Given the description of an element on the screen output the (x, y) to click on. 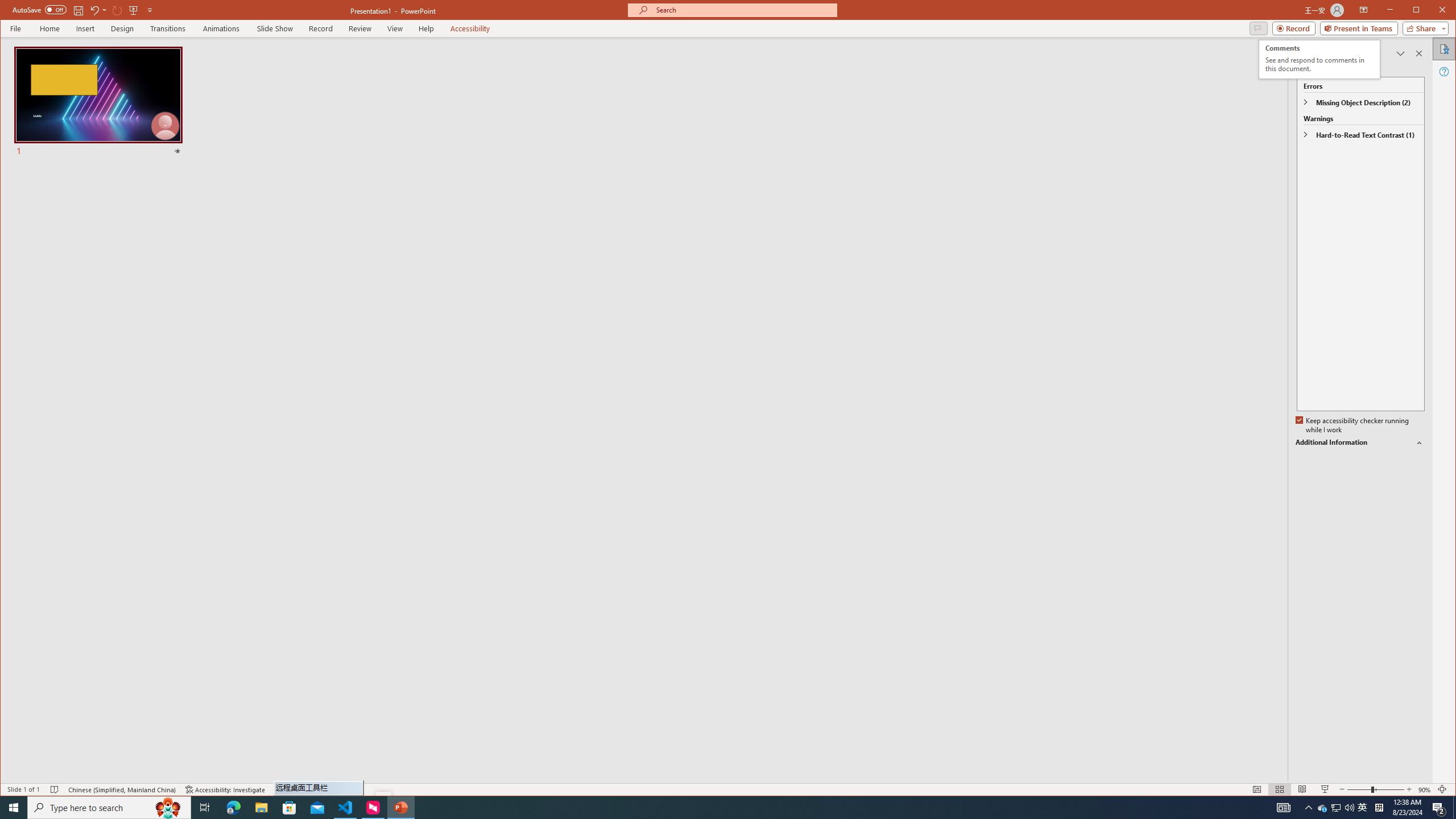
Zoom 90% (1362, 807)
PowerPoint - 1 running window (1424, 789)
Q2790: 100% (1322, 807)
AutomationID: 4105 (400, 807)
